Given the description of an element on the screen output the (x, y) to click on. 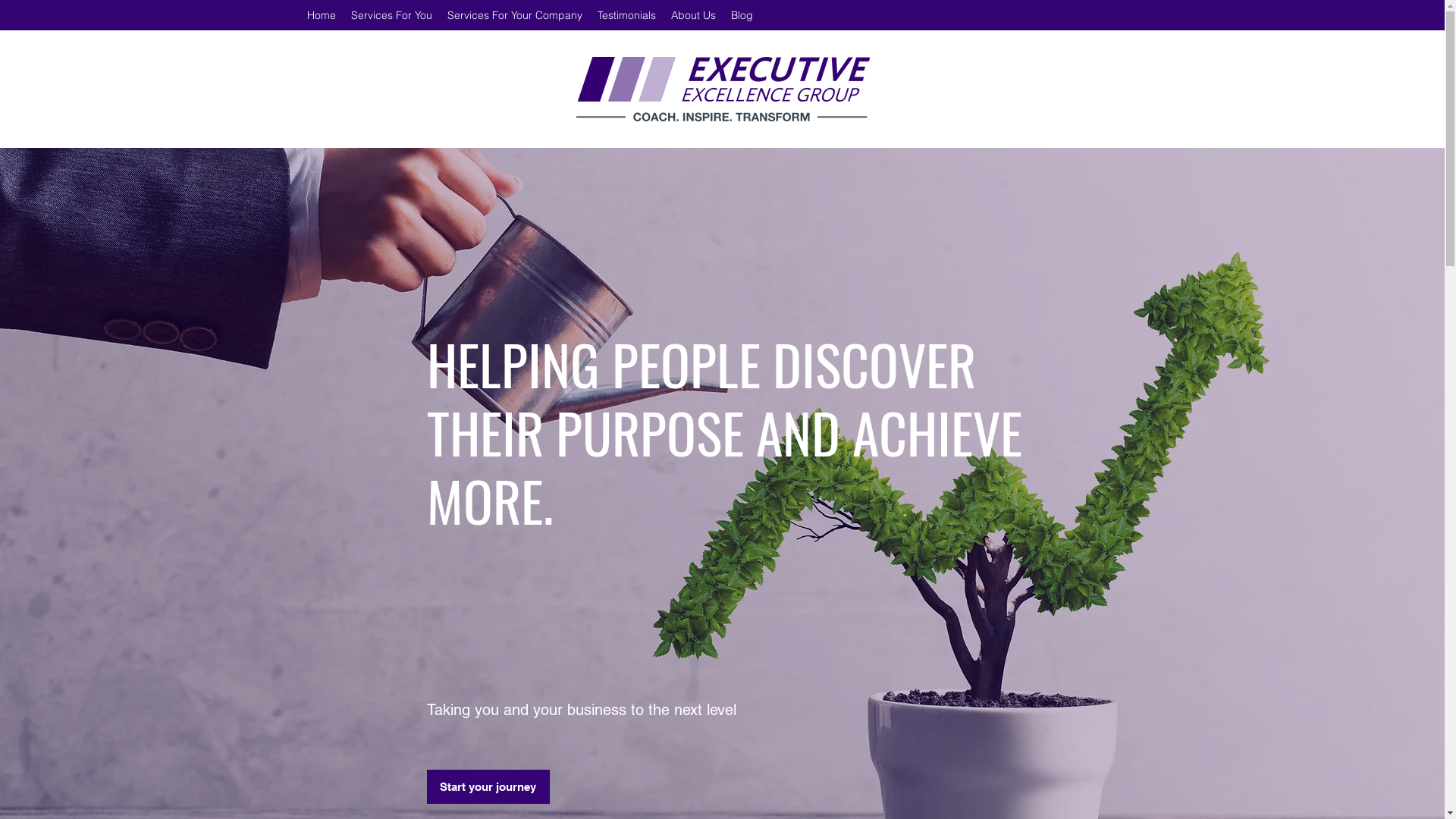
Services For Your Company Element type: text (514, 14)
Start your journey Element type: text (487, 786)
Services For You Element type: text (391, 14)
About Us Element type: text (693, 14)
Testimonials Element type: text (626, 14)
Blog Element type: text (741, 14)
Home Element type: text (321, 14)
